Given the description of an element on the screen output the (x, y) to click on. 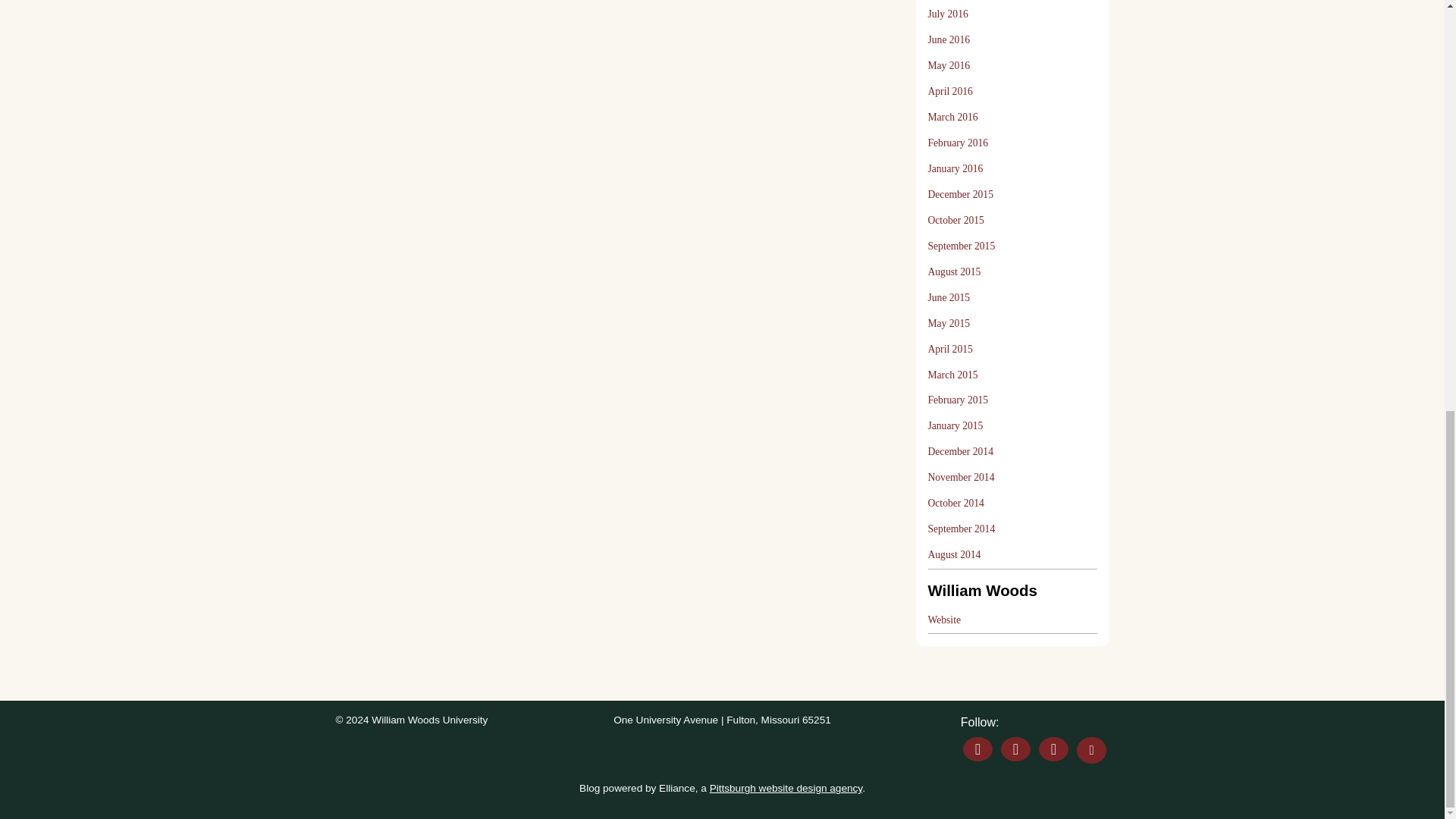
July 2016 (948, 14)
August 2016 (954, 0)
June 2016 (949, 40)
